Given the description of an element on the screen output the (x, y) to click on. 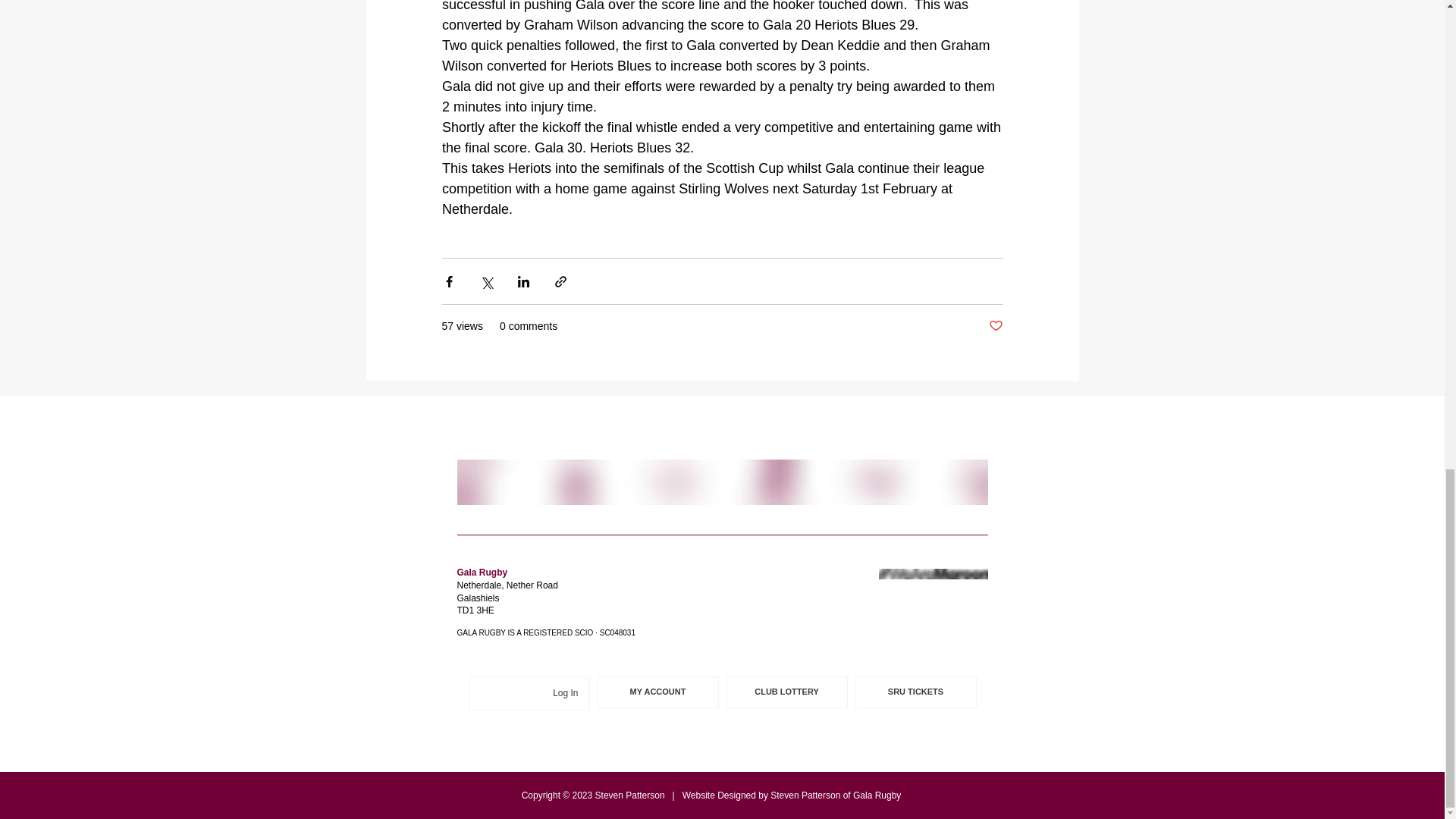
SRU TICKETS (916, 692)
Log In (564, 693)
CLUB LOTTERY (786, 692)
Post not marked as liked (995, 326)
Eye (722, 481)
MY ACCOUNT (657, 692)
